Given the description of an element on the screen output the (x, y) to click on. 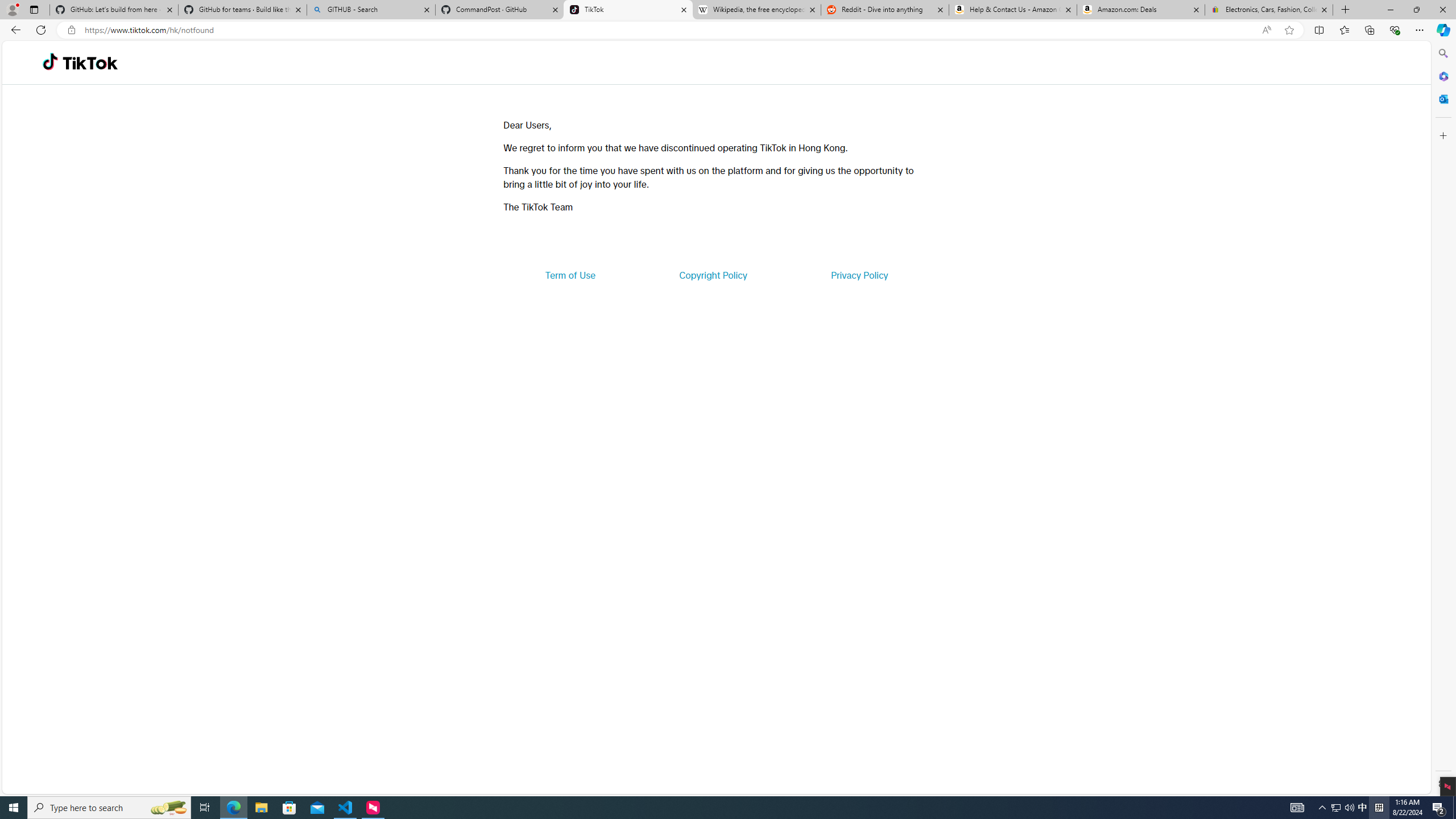
Side bar (1443, 418)
Back (13, 29)
TikTok (628, 9)
Term of Use (569, 274)
App bar (728, 29)
Customize (1442, 135)
Split screen (1318, 29)
GITHUB - Search (370, 9)
Privacy Policy (858, 274)
Close tab (1324, 9)
